Given the description of an element on the screen output the (x, y) to click on. 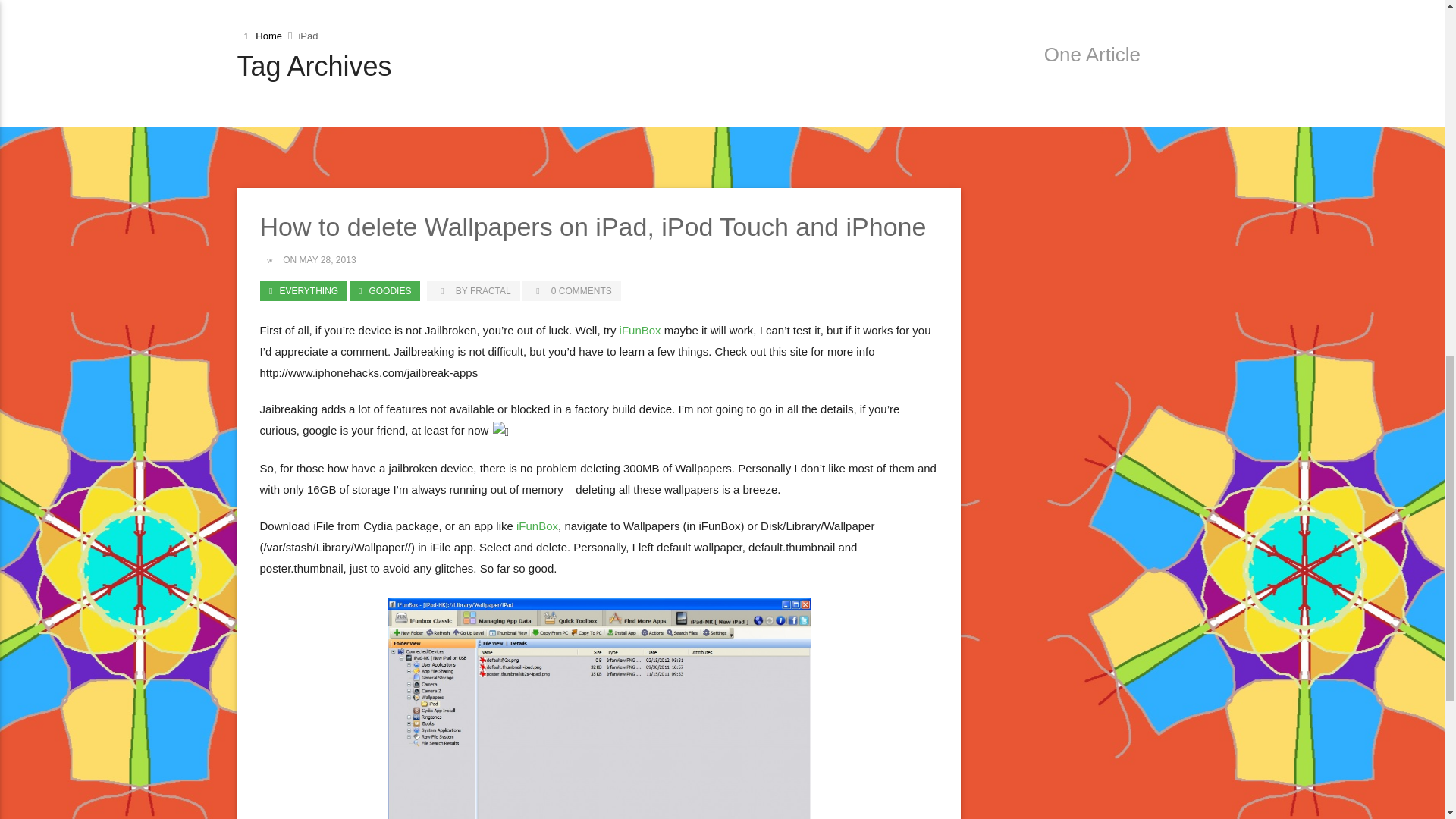
written by Fractal (472, 291)
0 COMMENTS (571, 291)
Home (261, 36)
BY FRACTAL (472, 291)
iFunBox (536, 524)
GOODIES (384, 291)
How to delete Wallpapers on iPad, iPod Touch and iPhone (592, 226)
EVERYTHING (302, 291)
How to delete Wallpapers on iPad, iPod Touch and iPhone (592, 226)
iFunBox (640, 329)
